Given the description of an element on the screen output the (x, y) to click on. 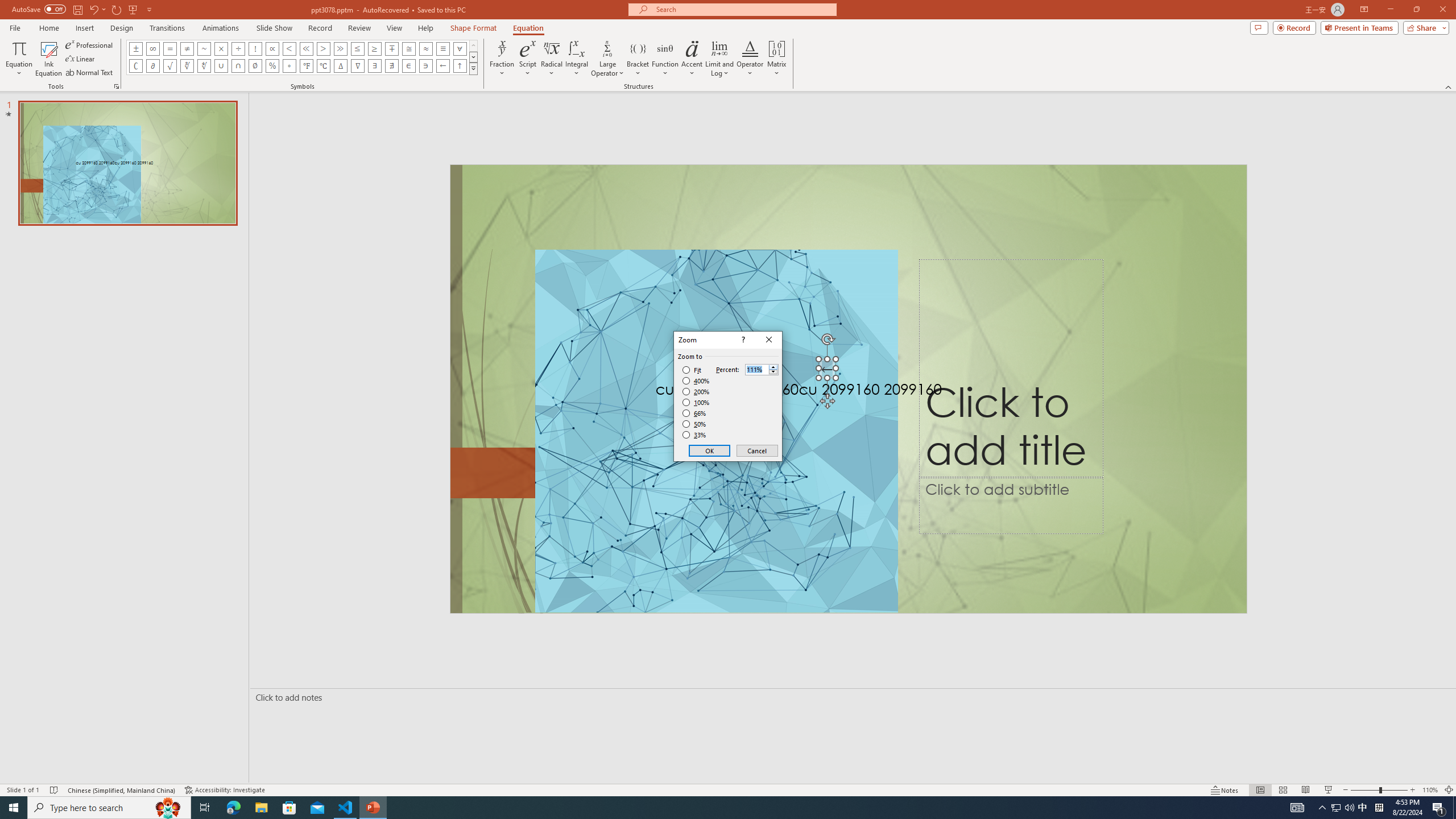
Bracket (638, 58)
Equation Symbol Approximately (203, 48)
Equation Symbol Less Than (289, 48)
Equation Symbols (472, 68)
Equation Symbol Fourth Root (203, 65)
Accent (691, 58)
Equation Symbol Identical To (442, 48)
Equation Symbol Partial Differential (152, 65)
Equation Symbol Greater Than (322, 48)
